Given the description of an element on the screen output the (x, y) to click on. 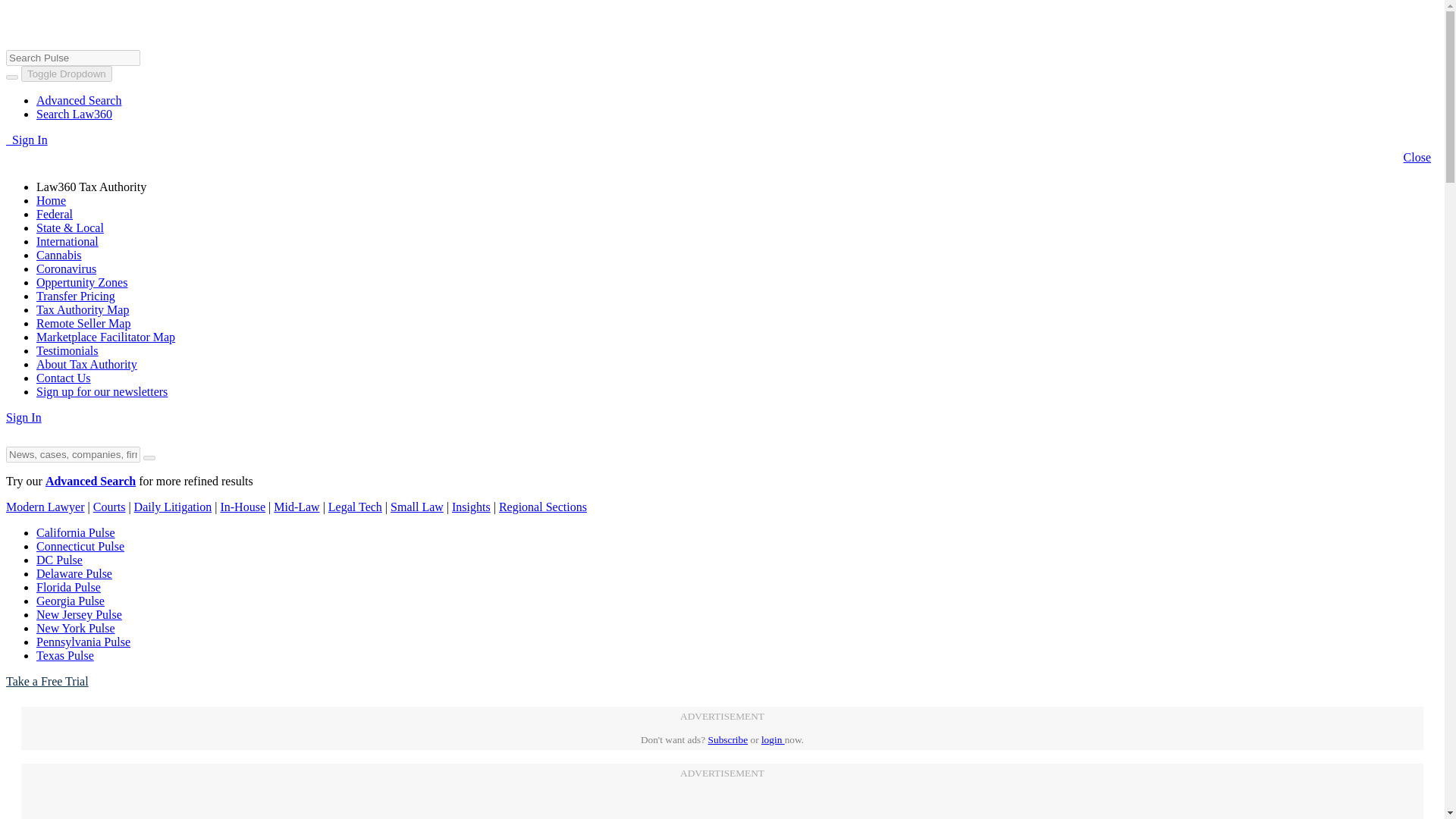
Small Law (417, 506)
Modern Lawyer (44, 506)
Oppertunity Zones (82, 282)
Coronavirus (66, 268)
Insights (470, 506)
Insights (470, 506)
Mid-Law (295, 506)
International (67, 241)
GO (13, 7)
TA Coronavirus (66, 268)
Sign up for our newsletters (101, 391)
Federal (54, 214)
In-House (241, 506)
Home (50, 200)
Advanced Search (78, 100)
